Given the description of an element on the screen output the (x, y) to click on. 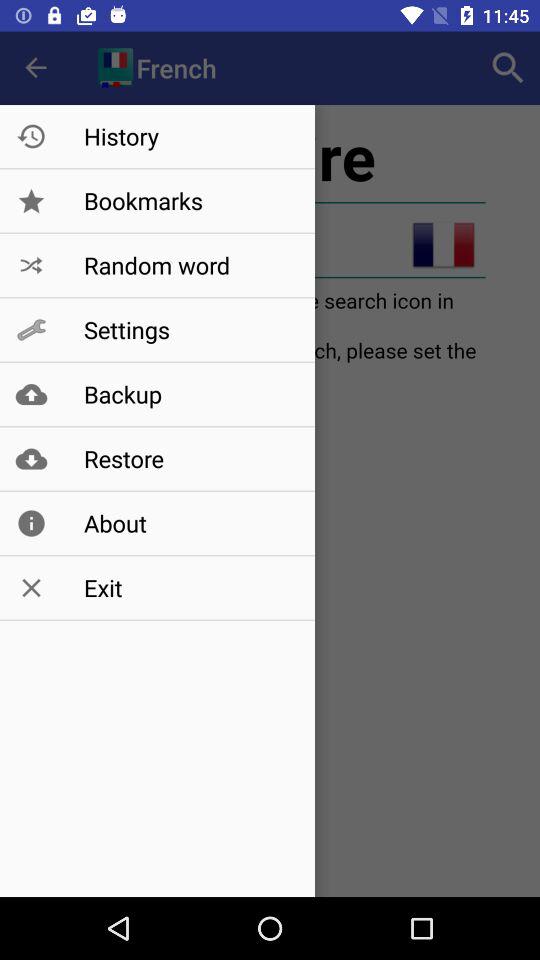
jump until exit (188, 587)
